Given the description of an element on the screen output the (x, y) to click on. 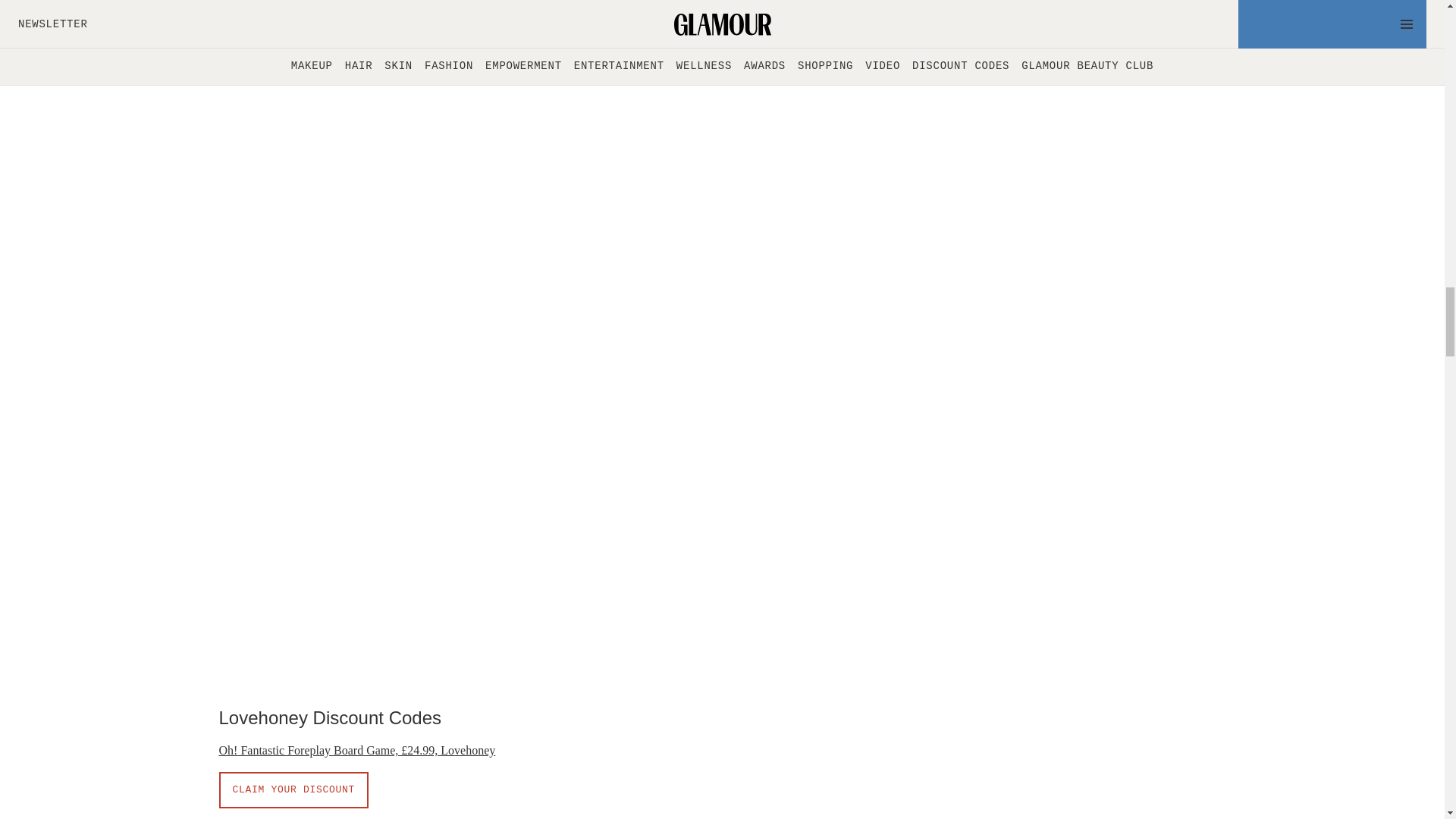
Claim Your Discount (293, 790)
